Given the description of an element on the screen output the (x, y) to click on. 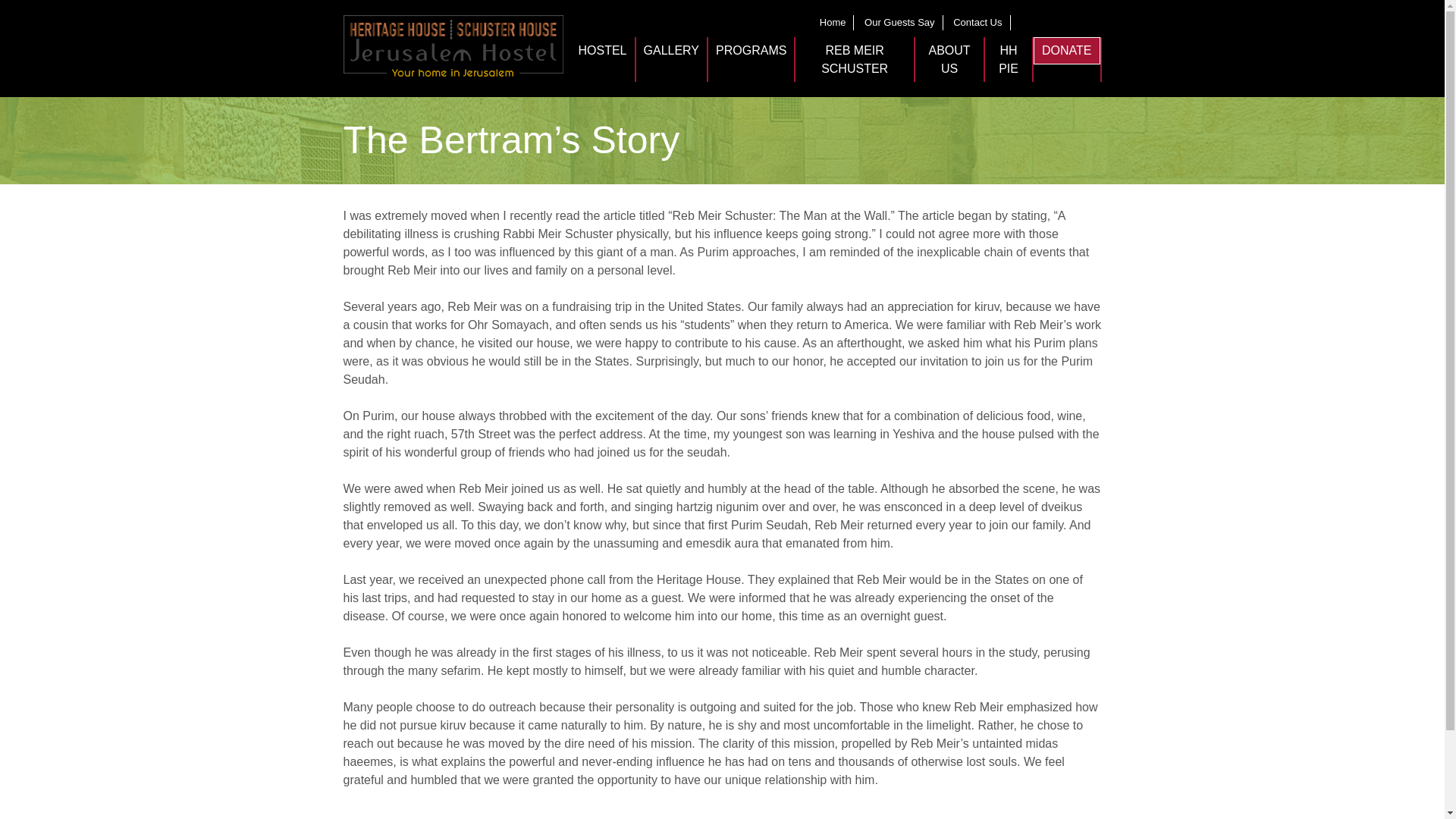
Our Guests Say (899, 21)
PROGRAMS (750, 50)
HH PIE (1008, 59)
HOSTEL (601, 50)
DONATE (1066, 50)
Home (832, 21)
Contact Us (977, 21)
REB MEIR SCHUSTER (854, 59)
ABOUT US (949, 59)
GALLERY (671, 50)
